Given the description of an element on the screen output the (x, y) to click on. 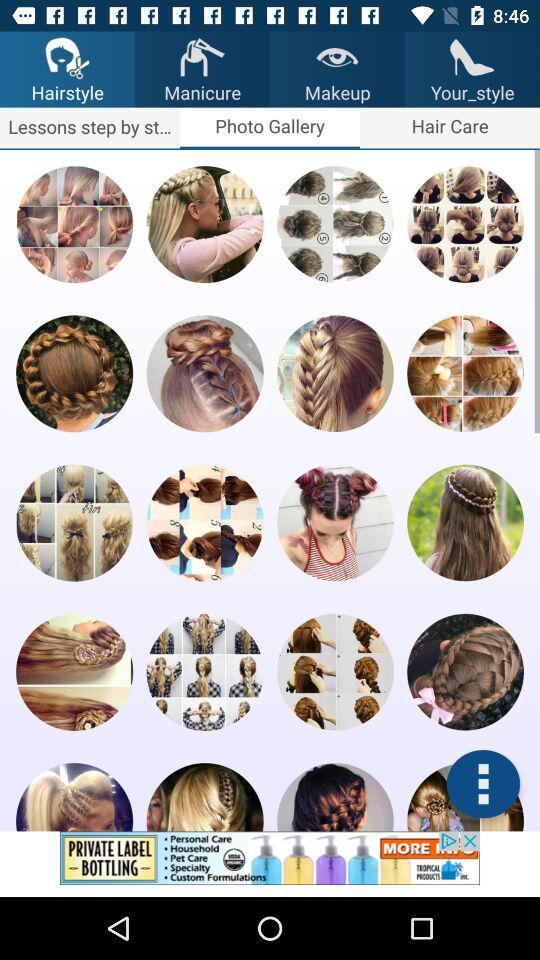
select photo (335, 671)
